Given the description of an element on the screen output the (x, y) to click on. 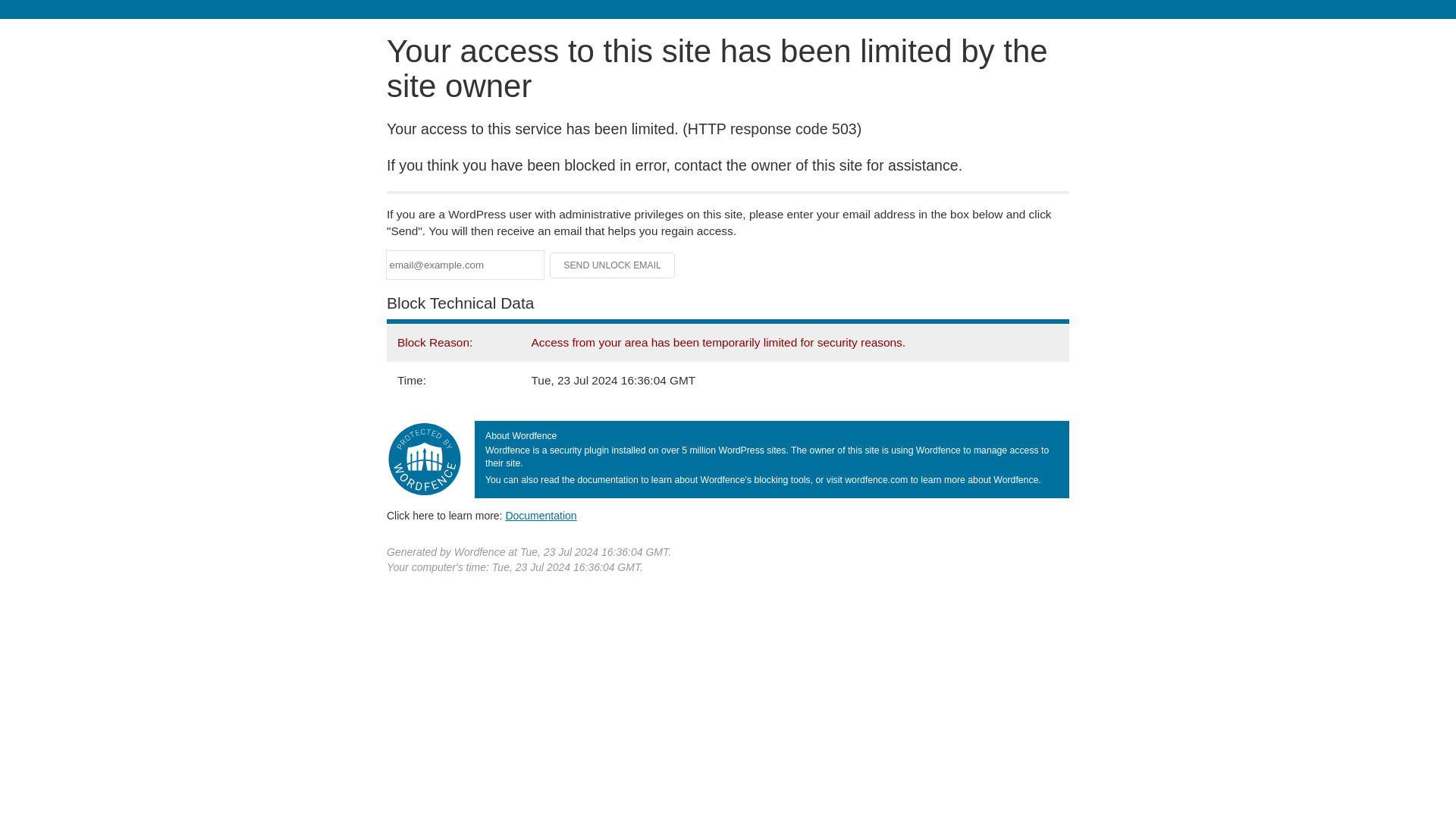
Send Unlock Email (612, 265)
Documentation (540, 515)
Send Unlock Email (612, 265)
